Given the description of an element on the screen output the (x, y) to click on. 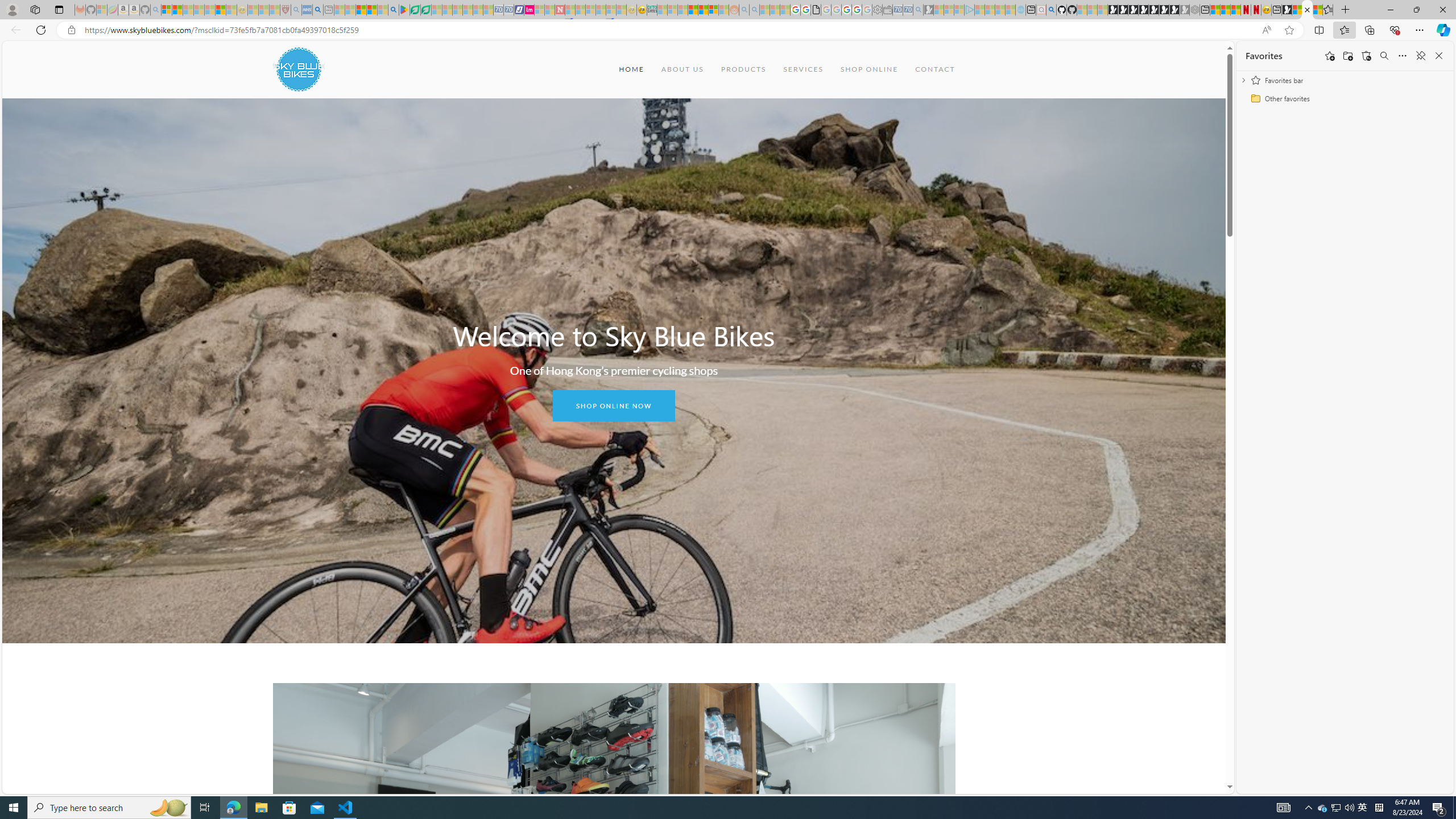
HOME (631, 68)
Recipes - MSN - Sleeping (253, 9)
